Given the description of an element on the screen output the (x, y) to click on. 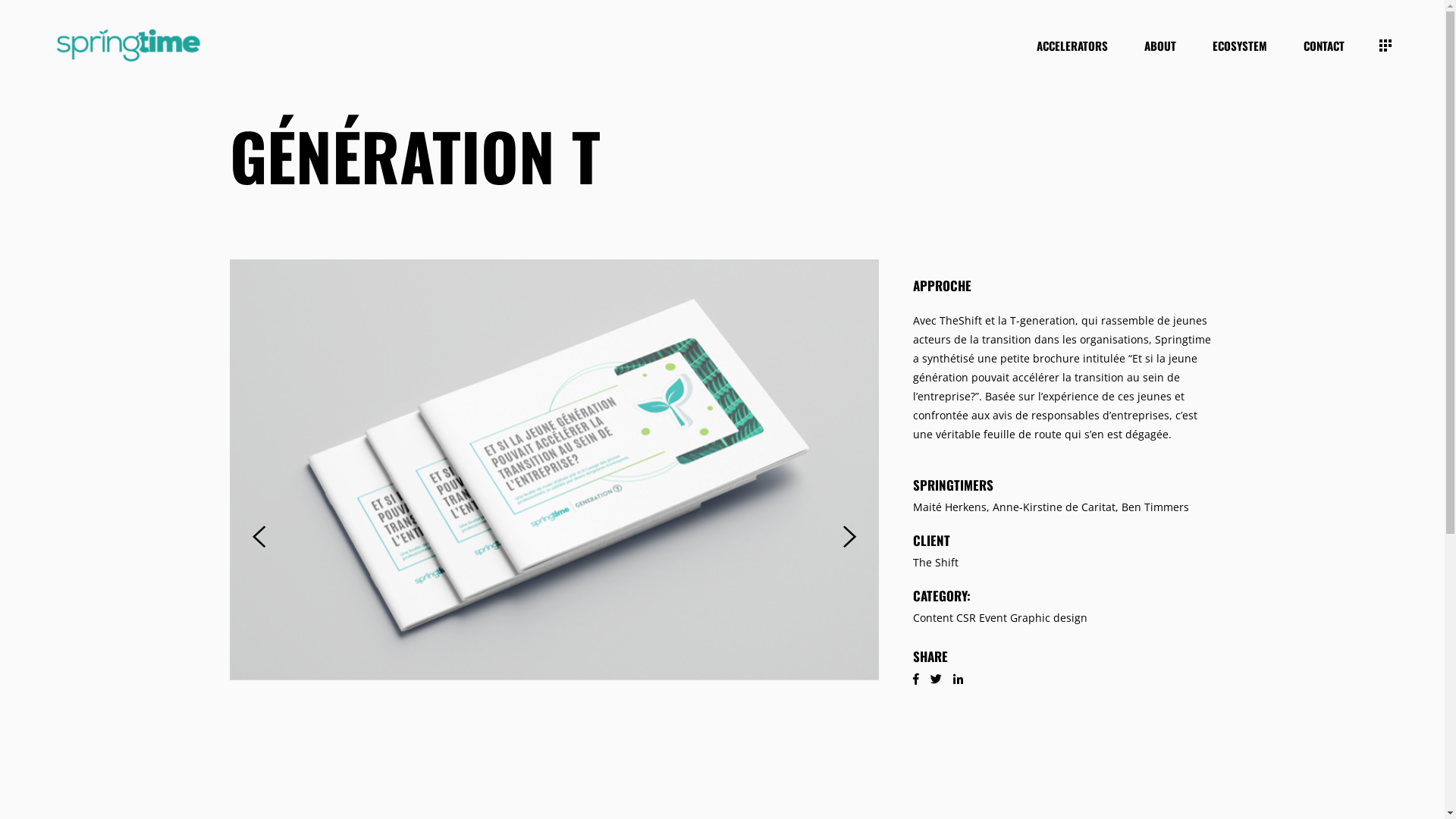
ECOSYSTEM Element type: text (1239, 44)
CONTACT Element type: text (1323, 44)
ABOUT Element type: text (1160, 44)
Graphic design Element type: text (1048, 617)
CSR Element type: text (965, 617)
GENT2 Element type: hover (554, 469)
ACCELERATORS Element type: text (1072, 44)
Event Element type: text (993, 617)
Content Element type: text (933, 617)
